Given the description of an element on the screen output the (x, y) to click on. 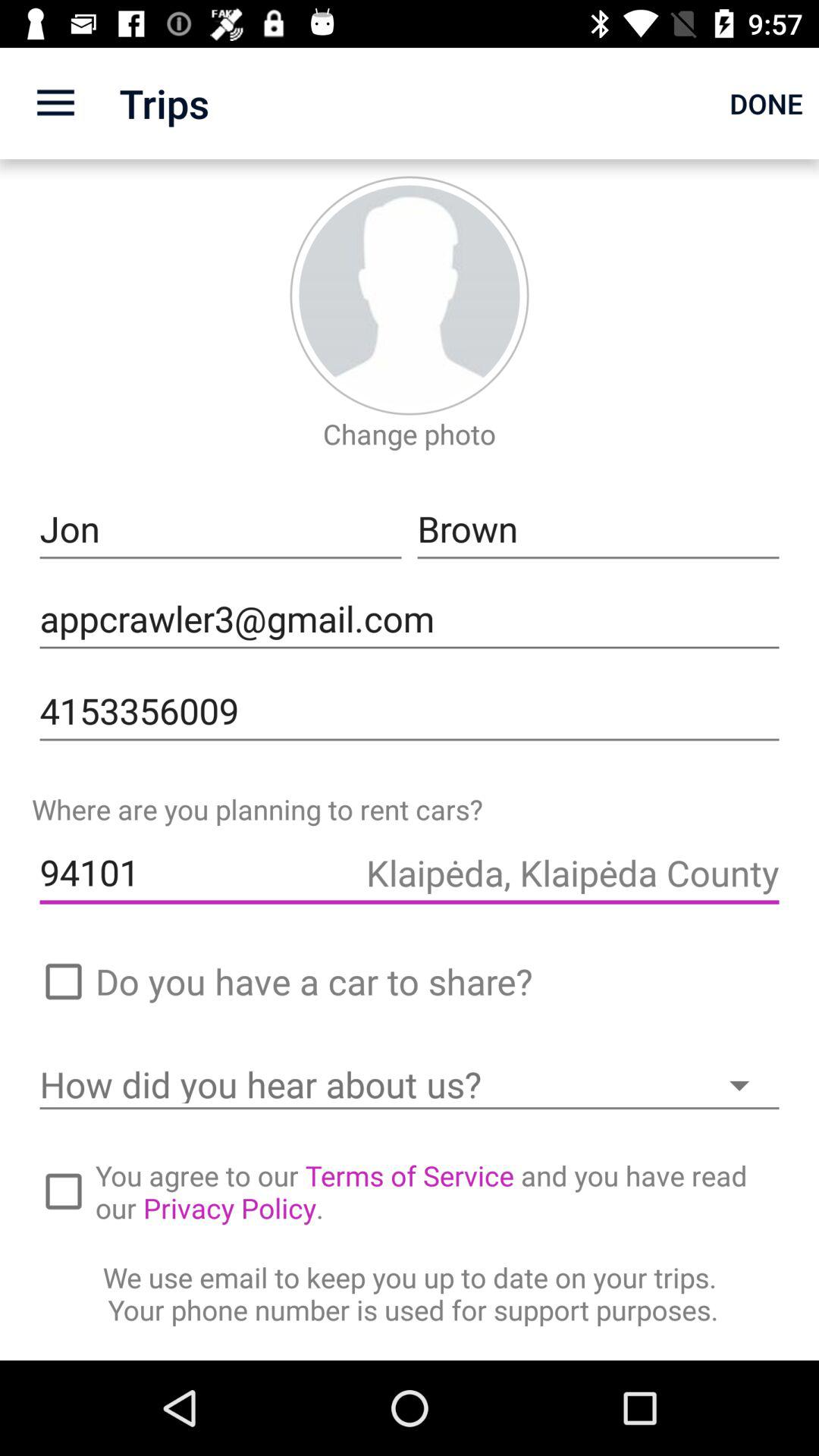
launch app to the left of trips app (55, 103)
